Given the description of an element on the screen output the (x, y) to click on. 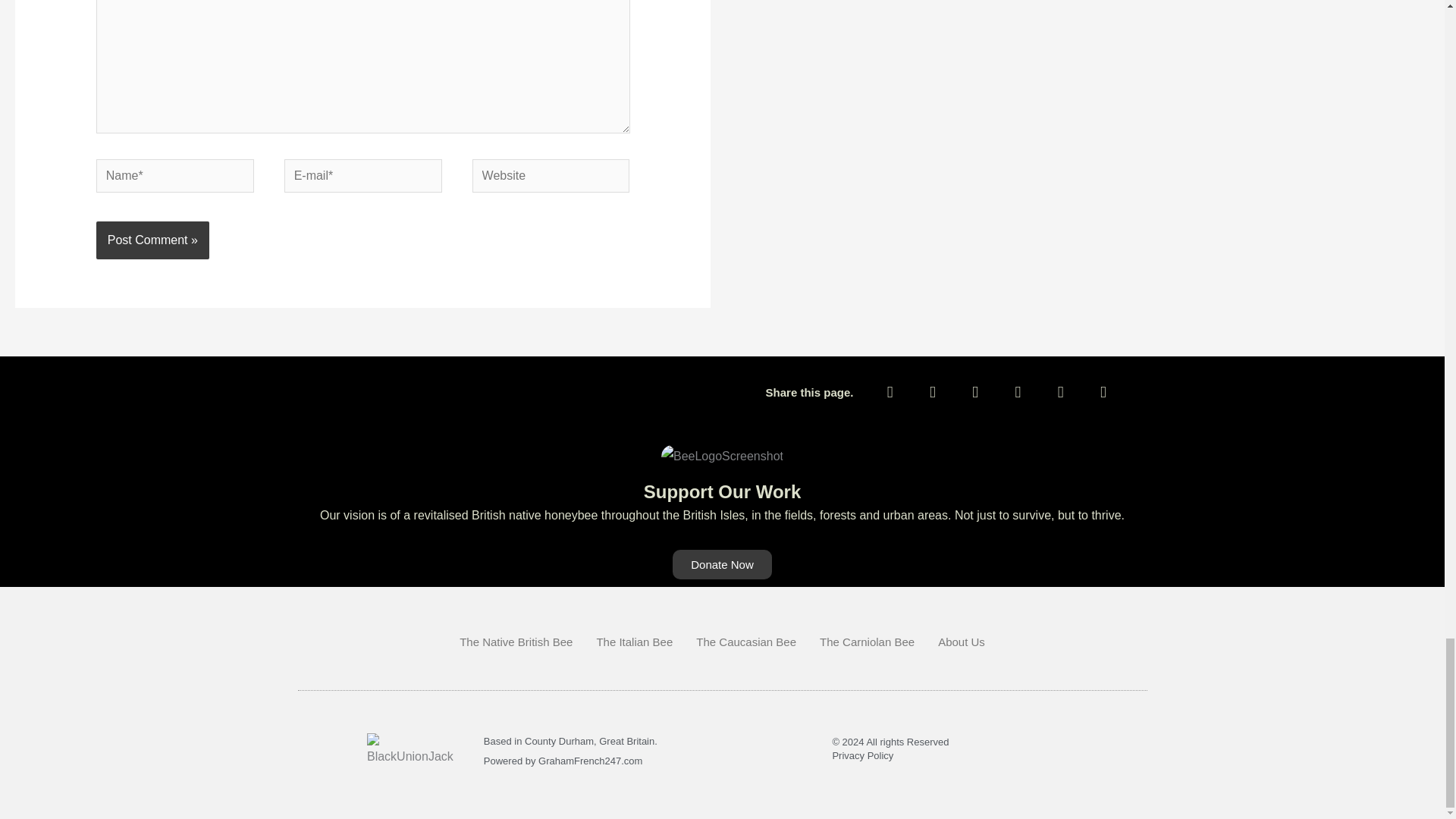
BlackUnionJack (409, 750)
BeeLogoScreenshot (722, 456)
